Given the description of an element on the screen output the (x, y) to click on. 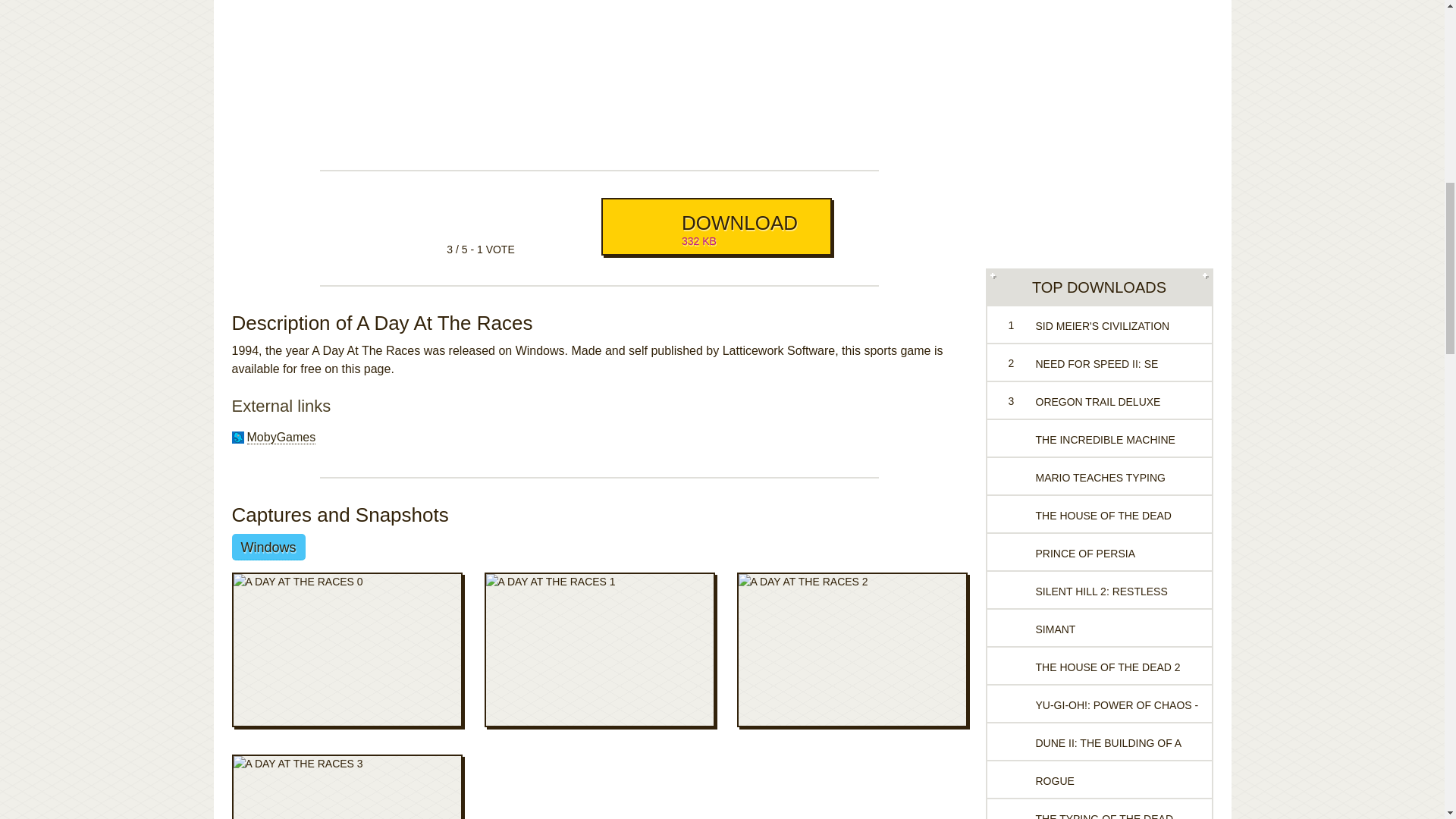
MobyGames (281, 437)
Windows (268, 546)
